Given the description of an element on the screen output the (x, y) to click on. 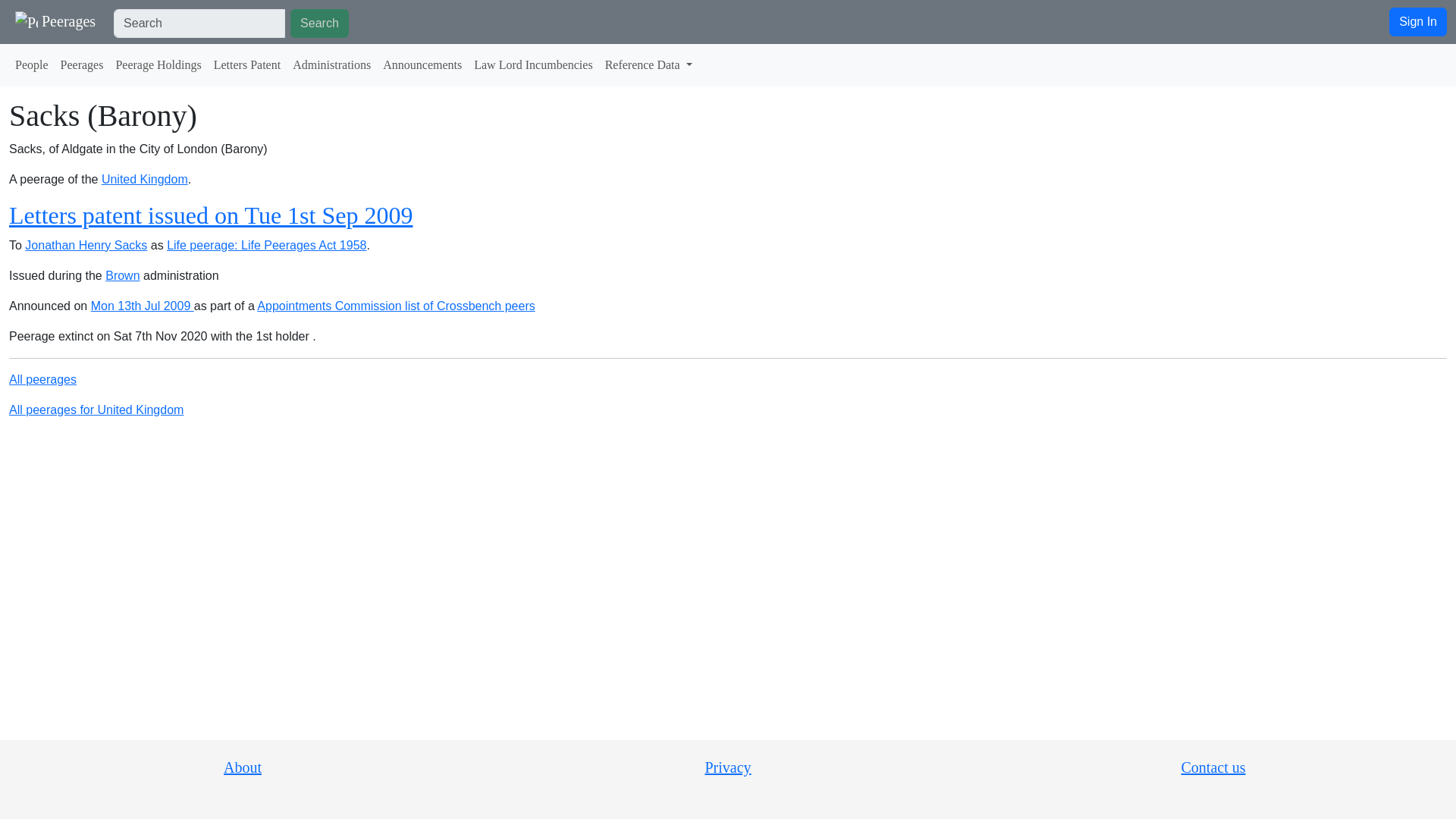
United Kingdom (144, 178)
About (243, 767)
Letters patent issued on Tue 1st Sep 2009 (210, 215)
Peerages (82, 64)
Brown (121, 275)
Jonathan Henry Sacks (85, 245)
Peerages (54, 21)
Announcements (422, 64)
Sign In (1418, 21)
Mon 13th Jul 2009 (141, 305)
